Given the description of an element on the screen output the (x, y) to click on. 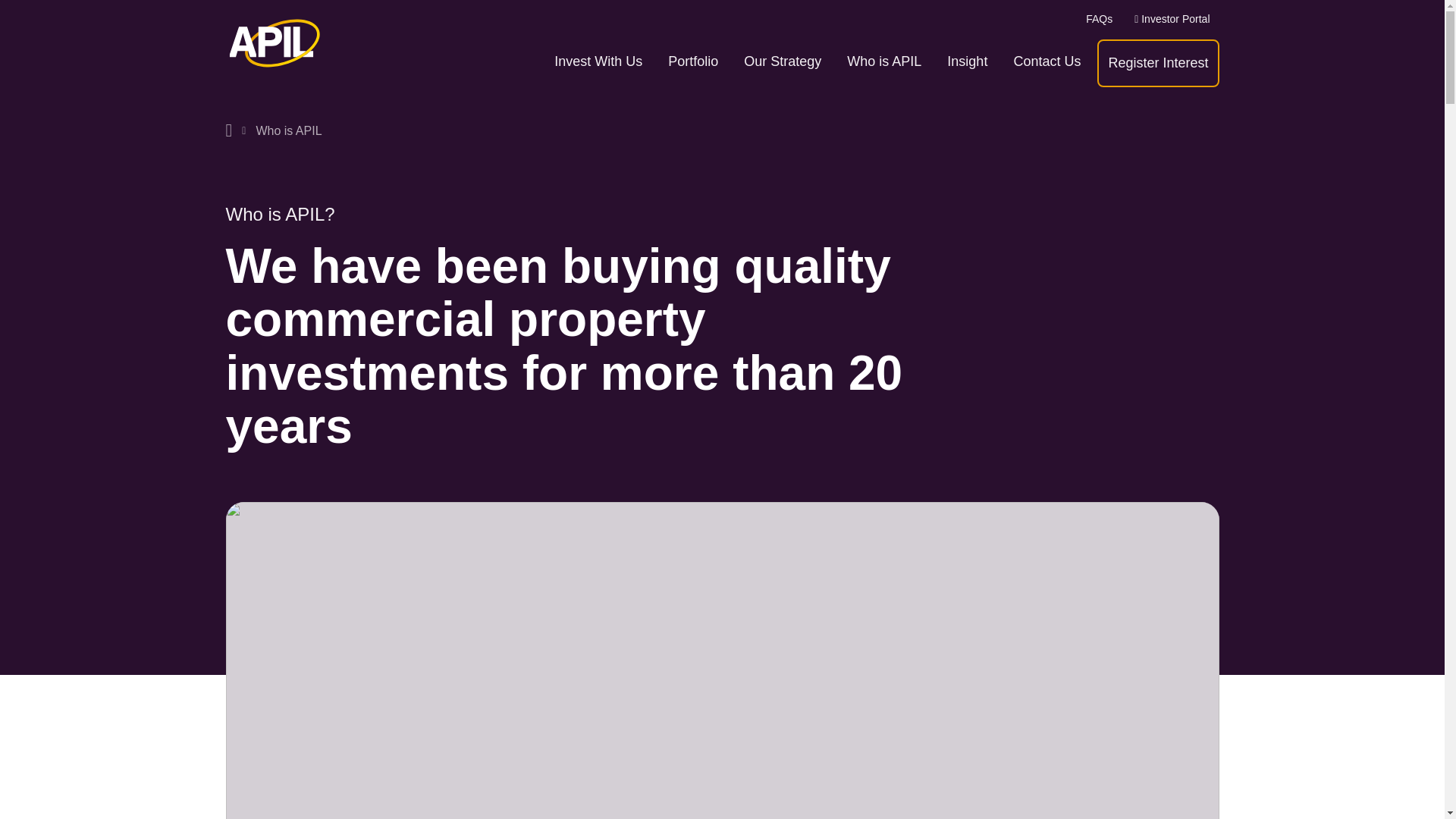
FAQs (1099, 19)
Who is APIL (884, 61)
Our Strategy (782, 61)
Invest With Us (597, 61)
Insight (966, 61)
Investor Portal (1171, 19)
Register Interest (1158, 62)
Contact Us (1046, 61)
Portfolio (692, 61)
